Given the description of an element on the screen output the (x, y) to click on. 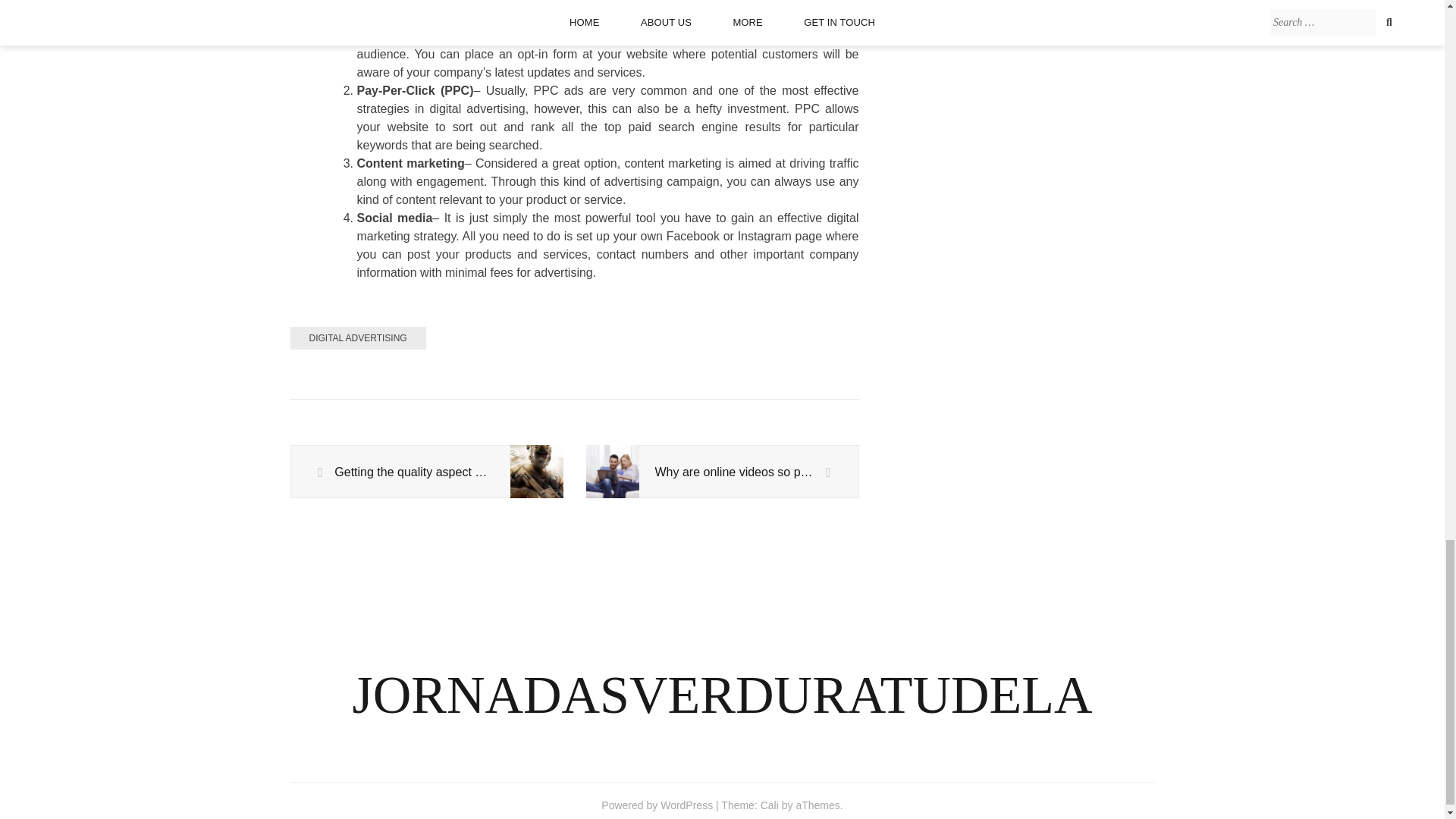
WordPress (687, 805)
Getting the quality aspect with the cinematic motion (426, 471)
DIGITAL ADVERTISING (357, 337)
JORNADASVERDURATUDELA (722, 694)
Cali (769, 805)
Why are online videos so popular these days? (722, 471)
Getting the quality aspect with the cinematic motion (426, 471)
